Given the description of an element on the screen output the (x, y) to click on. 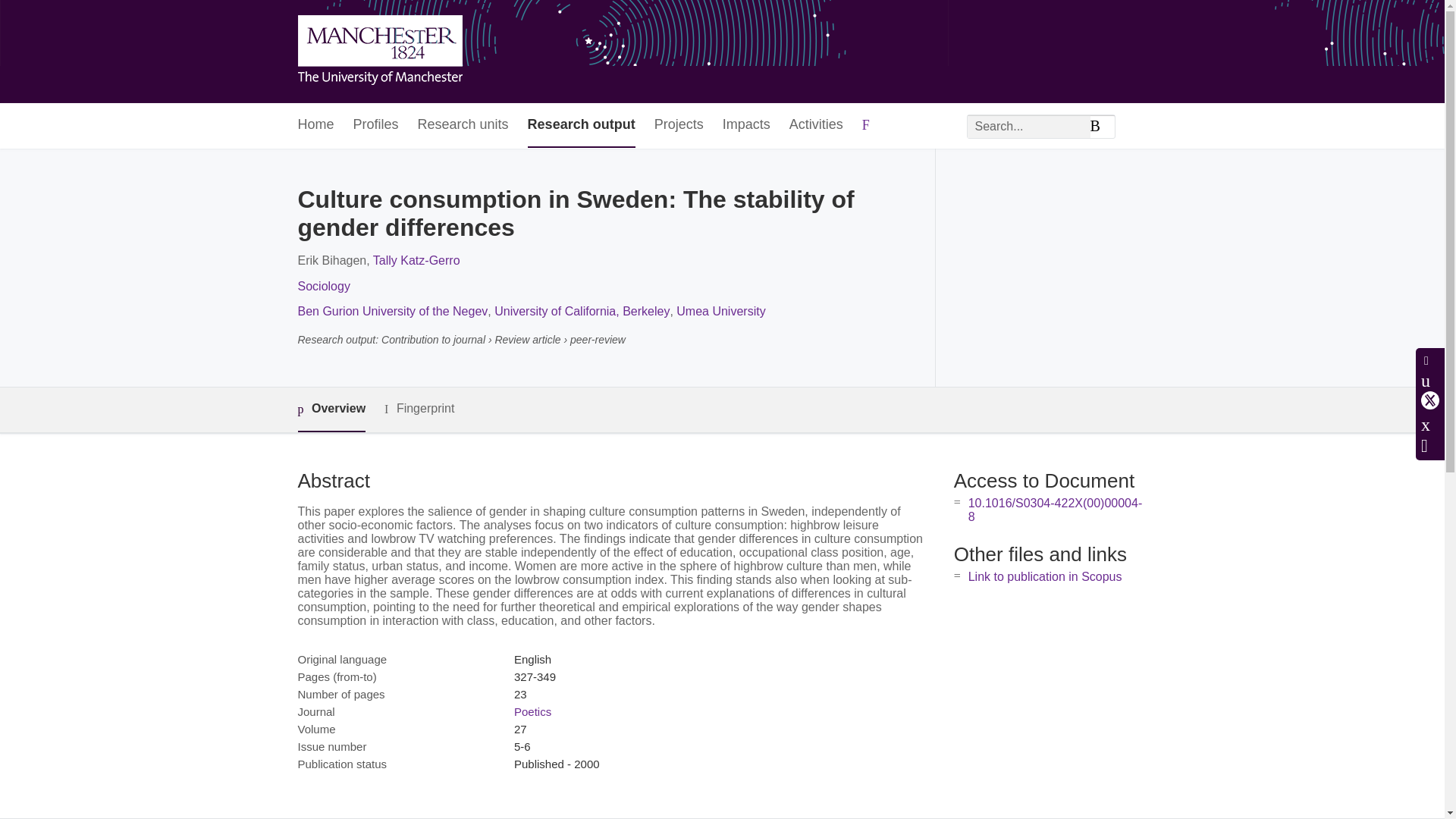
Profiles (375, 125)
Research output (580, 125)
University of California, Berkeley (582, 310)
Link to publication in Scopus (1045, 576)
Research units (462, 125)
Research Explorer The University of Manchester Home (379, 51)
Impacts (746, 125)
Poetics (532, 711)
Sociology (323, 286)
